Given the description of an element on the screen output the (x, y) to click on. 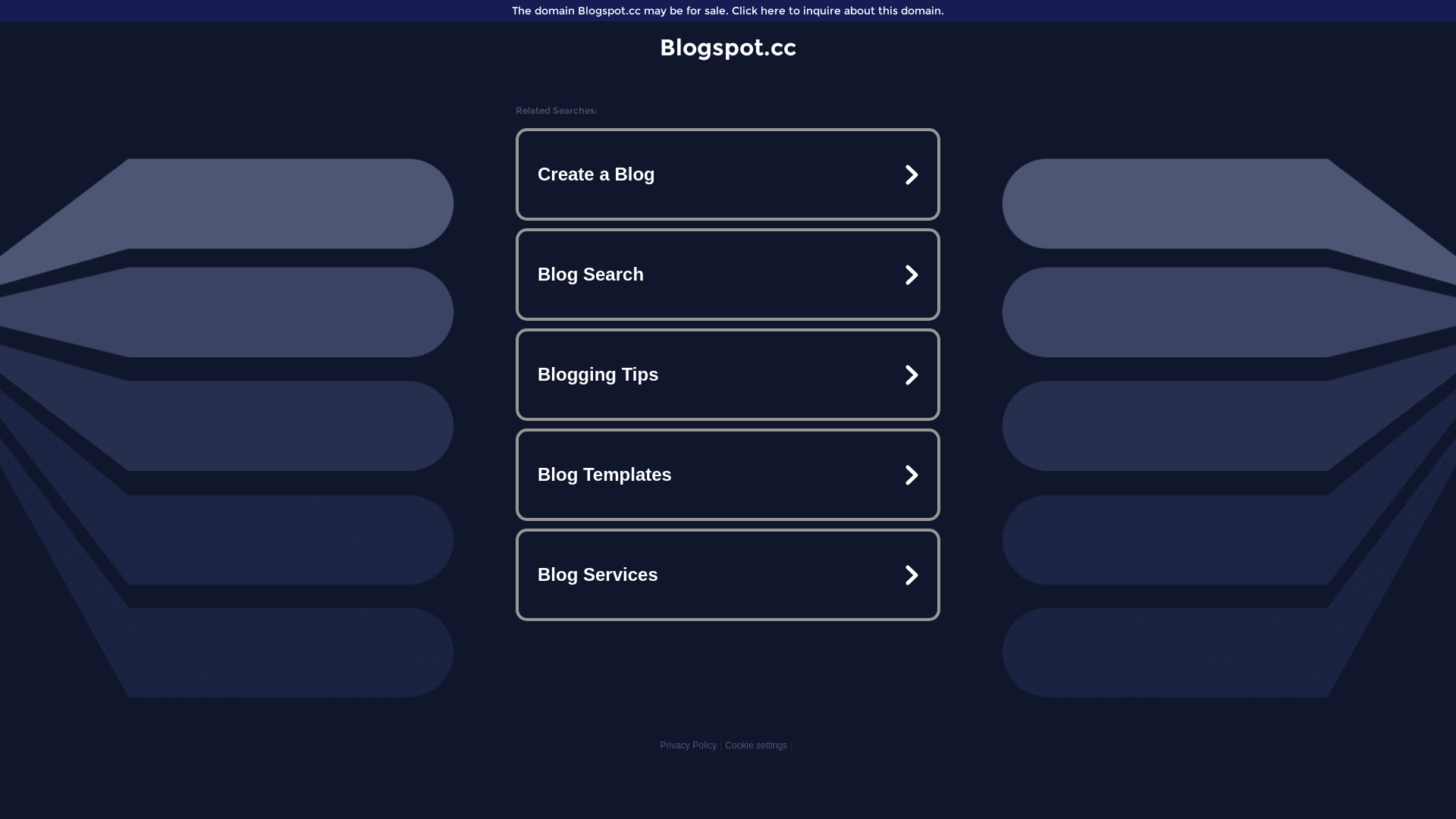
Blog Search Element type: text (727, 274)
Blog Templates Element type: text (727, 474)
Blogspot.cc Element type: text (727, 47)
Blog Services Element type: text (727, 574)
Create a Blog Element type: text (727, 174)
Privacy Policy Element type: text (687, 745)
Cookie settings Element type: text (755, 745)
Blogging Tips Element type: text (727, 374)
